Given the description of an element on the screen output the (x, y) to click on. 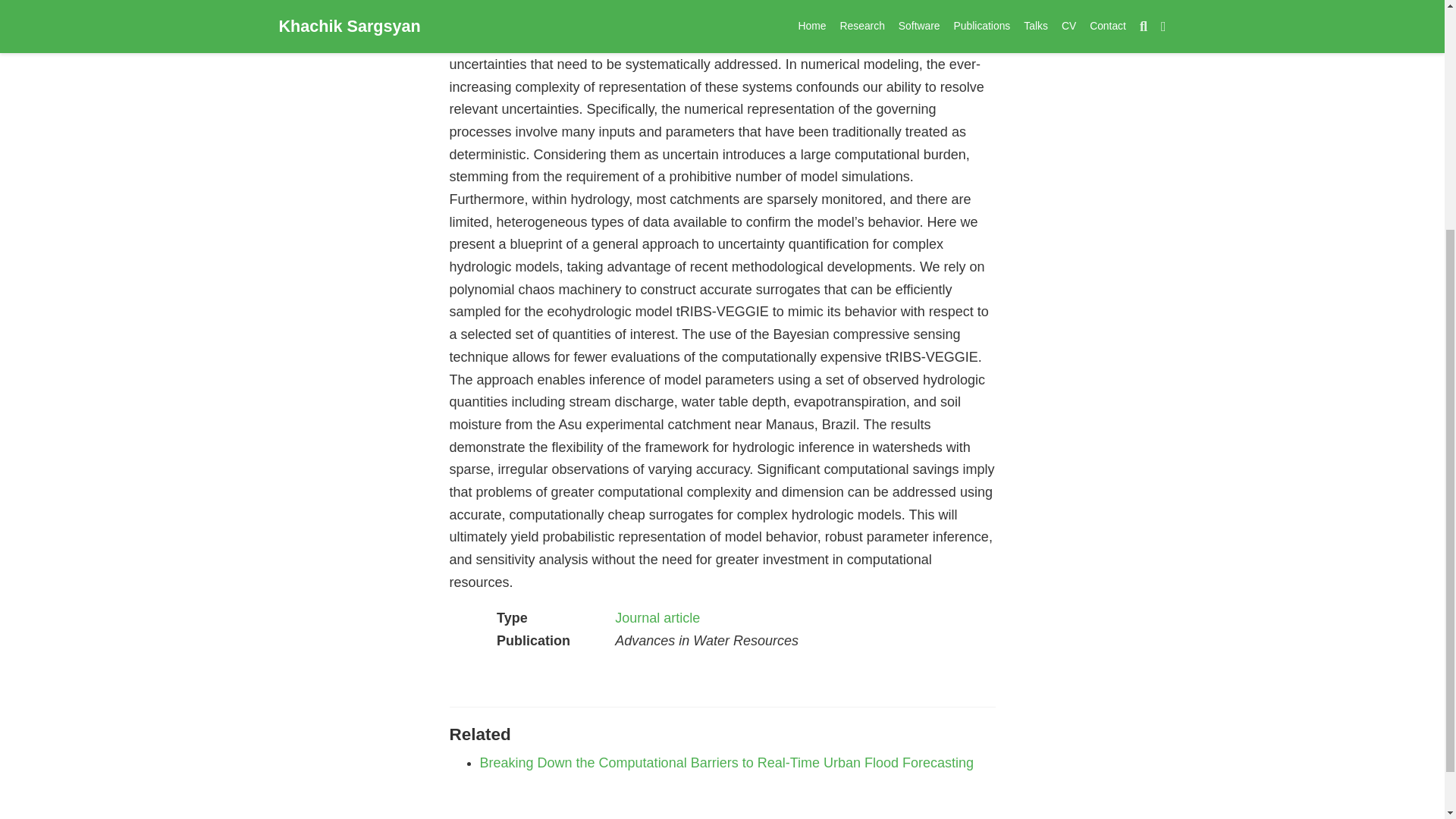
Journal article (657, 617)
